Given the description of an element on the screen output the (x, y) to click on. 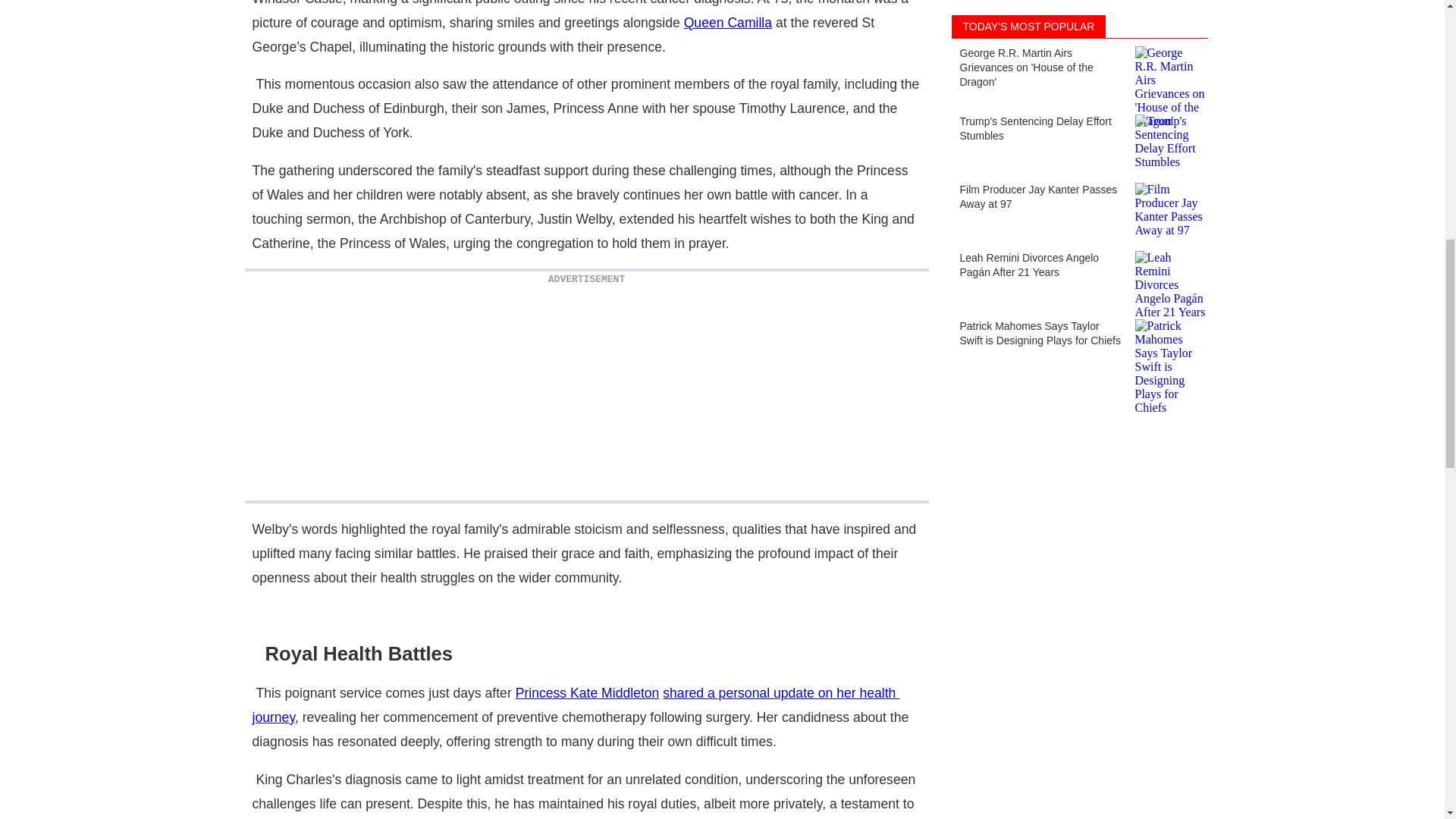
Princess Kate Middleton (587, 693)
shared a personal update on her health journey (575, 704)
Queen Camilla (727, 22)
